Given the description of an element on the screen output the (x, y) to click on. 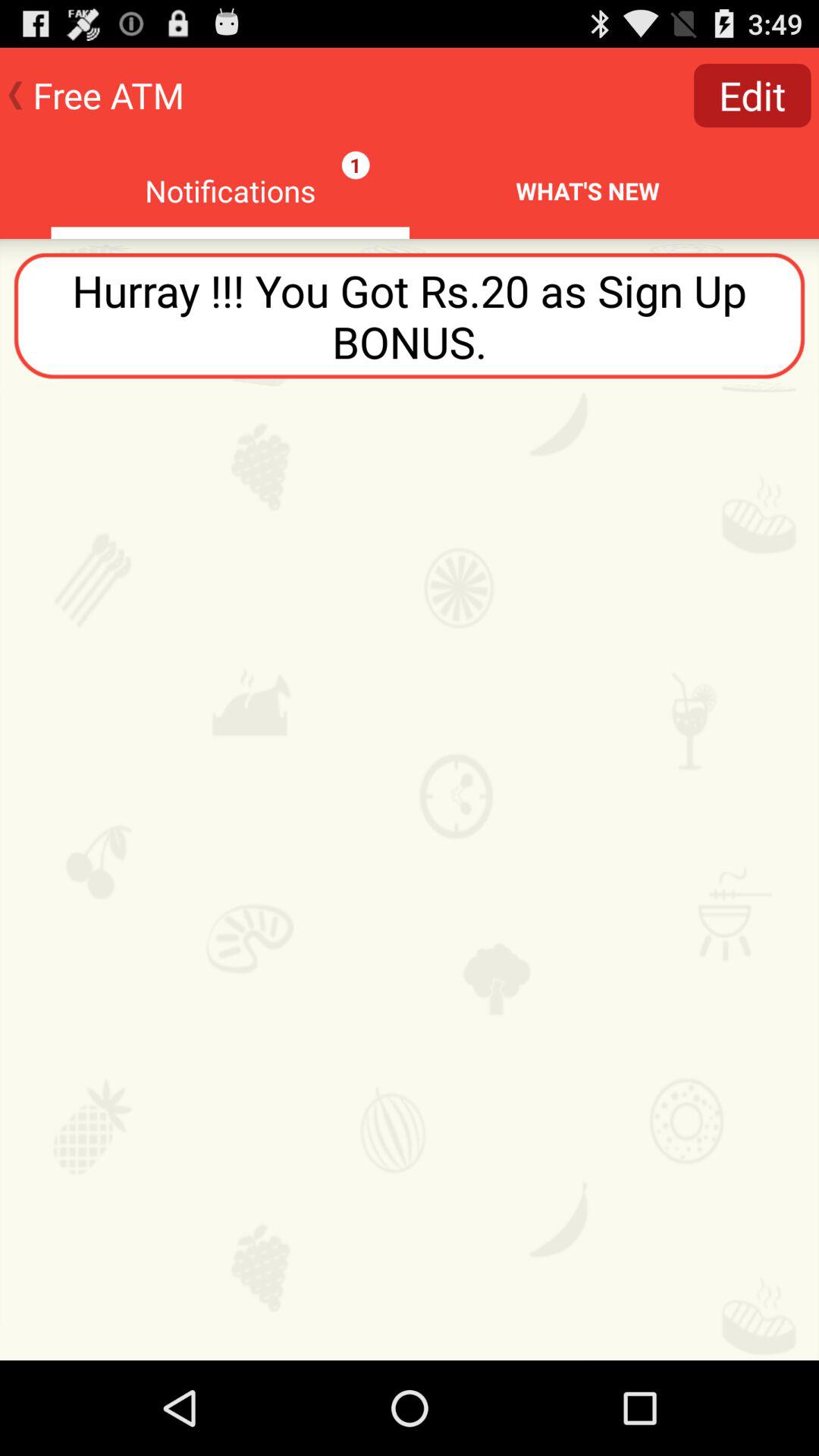
flip to the hurray you got (409, 315)
